Given the description of an element on the screen output the (x, y) to click on. 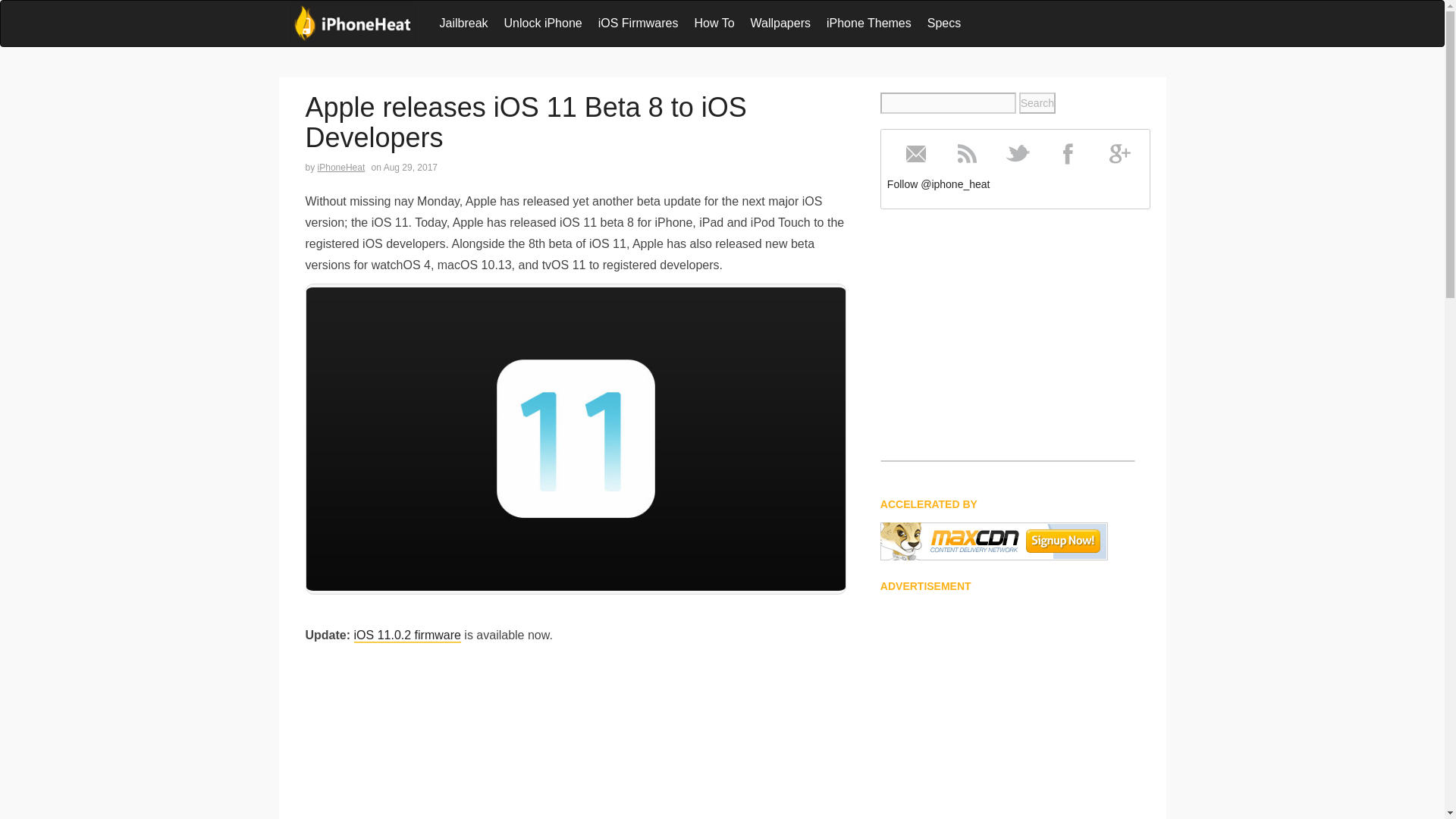
Search (1037, 102)
Specs (944, 22)
iPhone Themes (868, 22)
Unlock iPhone (542, 22)
iPhoneHeat (341, 167)
How To (713, 22)
Wallpapers (780, 22)
iOS 11.0.2 firmware (407, 635)
iPhoneHeat (351, 23)
Jailbreak (464, 22)
iOS Firmwares (638, 22)
Apple releases iOS 11 Beta 8 to iOS Developers (524, 122)
